Given the description of an element on the screen output the (x, y) to click on. 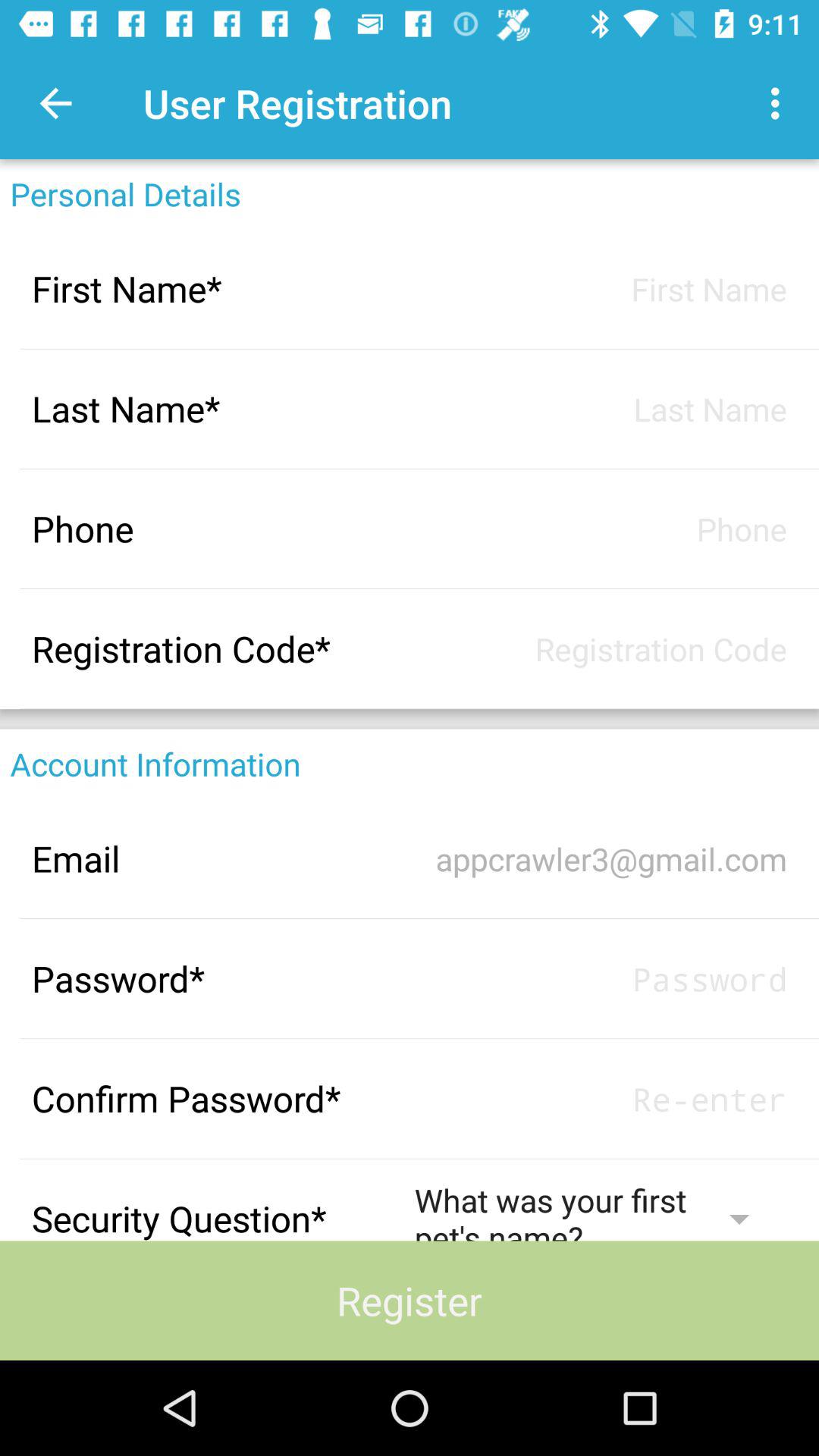
enter the password (600, 978)
